Given the description of an element on the screen output the (x, y) to click on. 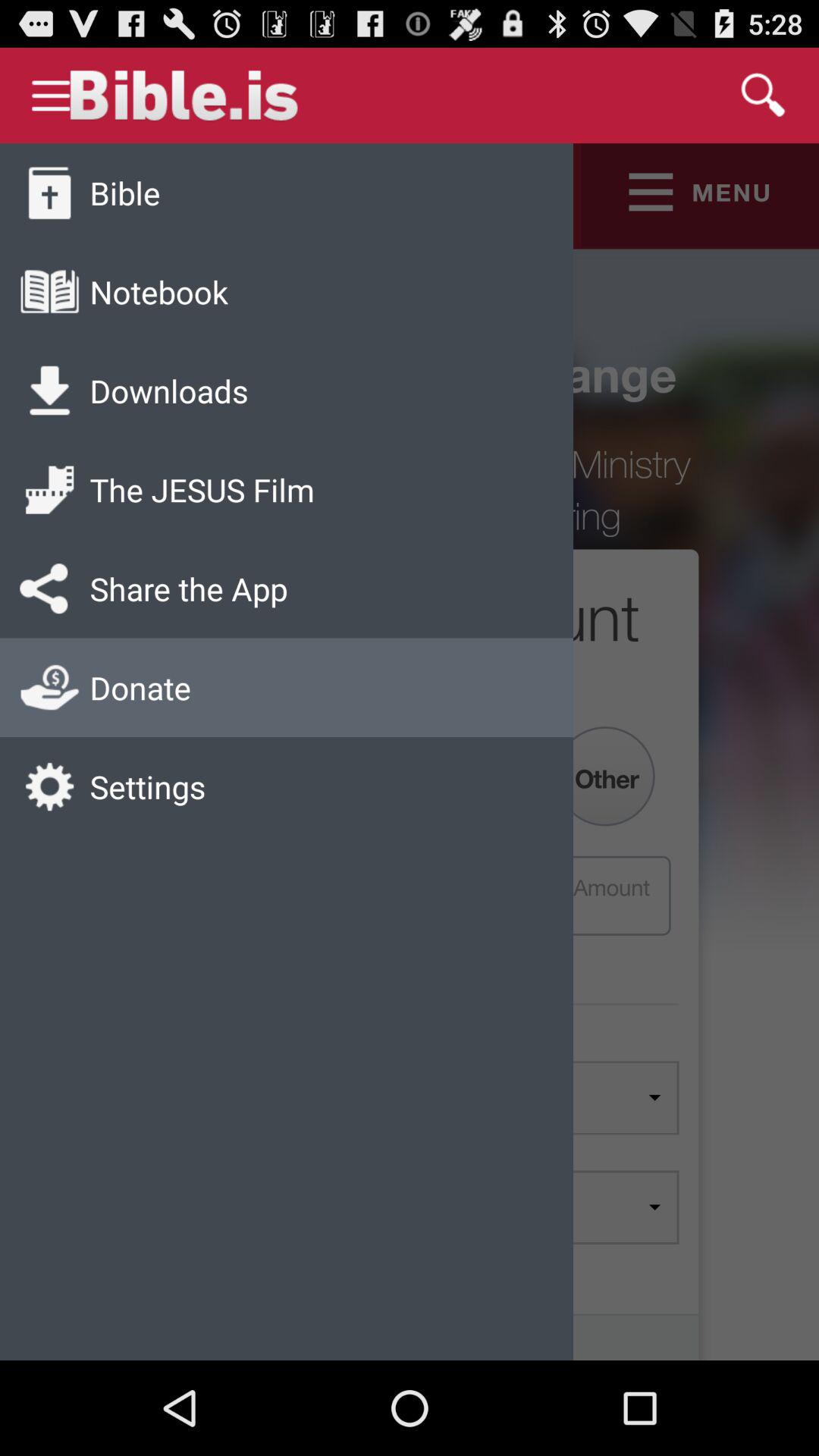
flip to the share the app app (188, 588)
